Given the description of an element on the screen output the (x, y) to click on. 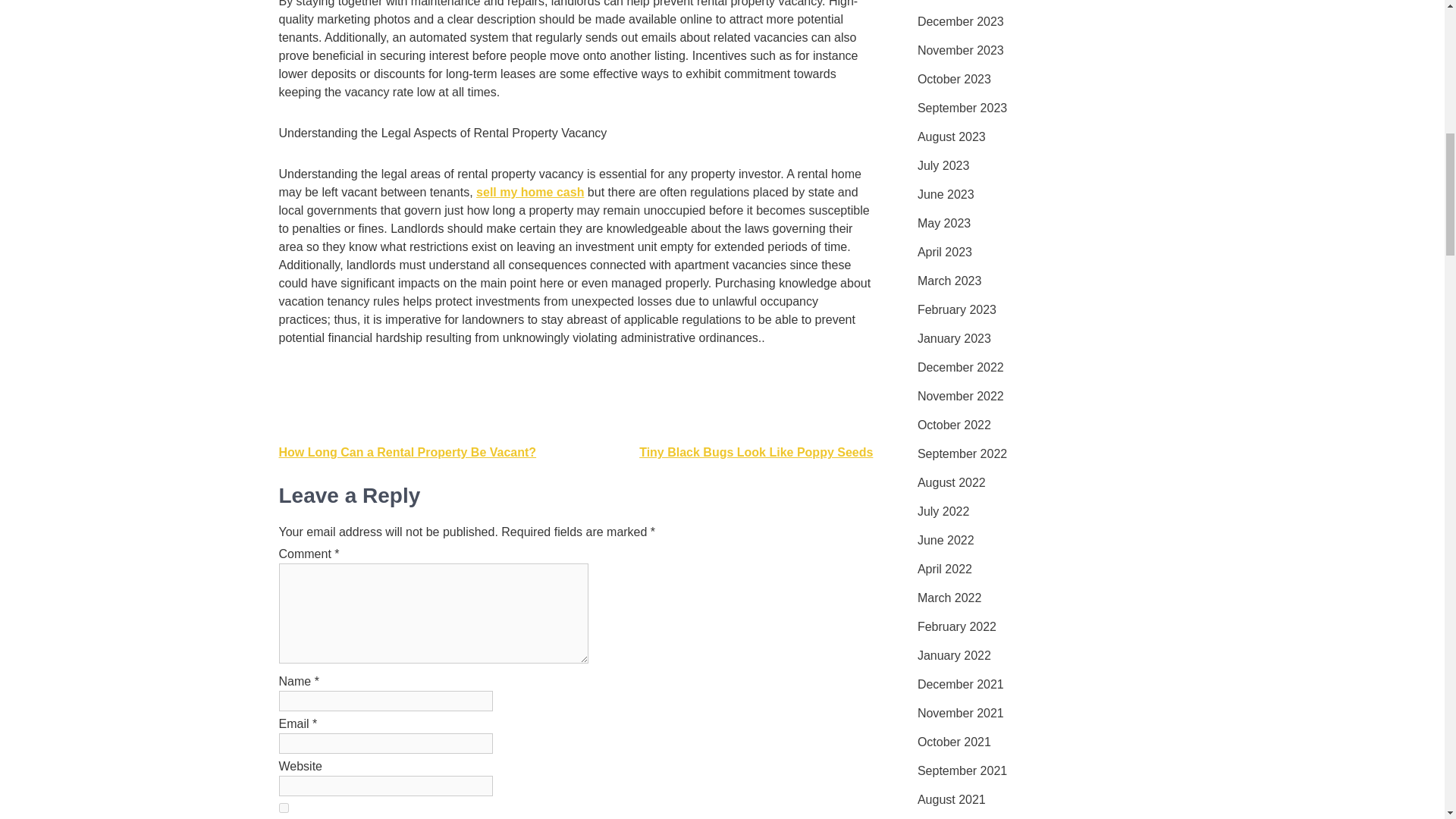
Tiny Black Bugs Look Like Poppy Seeds (755, 451)
sell my home cash (529, 192)
December 2023 (960, 22)
yes (283, 808)
November 2023 (960, 50)
How Long Can a Rental Property Be Vacant? (408, 451)
September 2023 (962, 108)
October 2023 (954, 79)
April 2023 (944, 252)
May 2023 (944, 223)
July 2023 (943, 166)
January 2024 (954, 1)
August 2023 (951, 136)
June 2023 (945, 194)
